Given the description of an element on the screen output the (x, y) to click on. 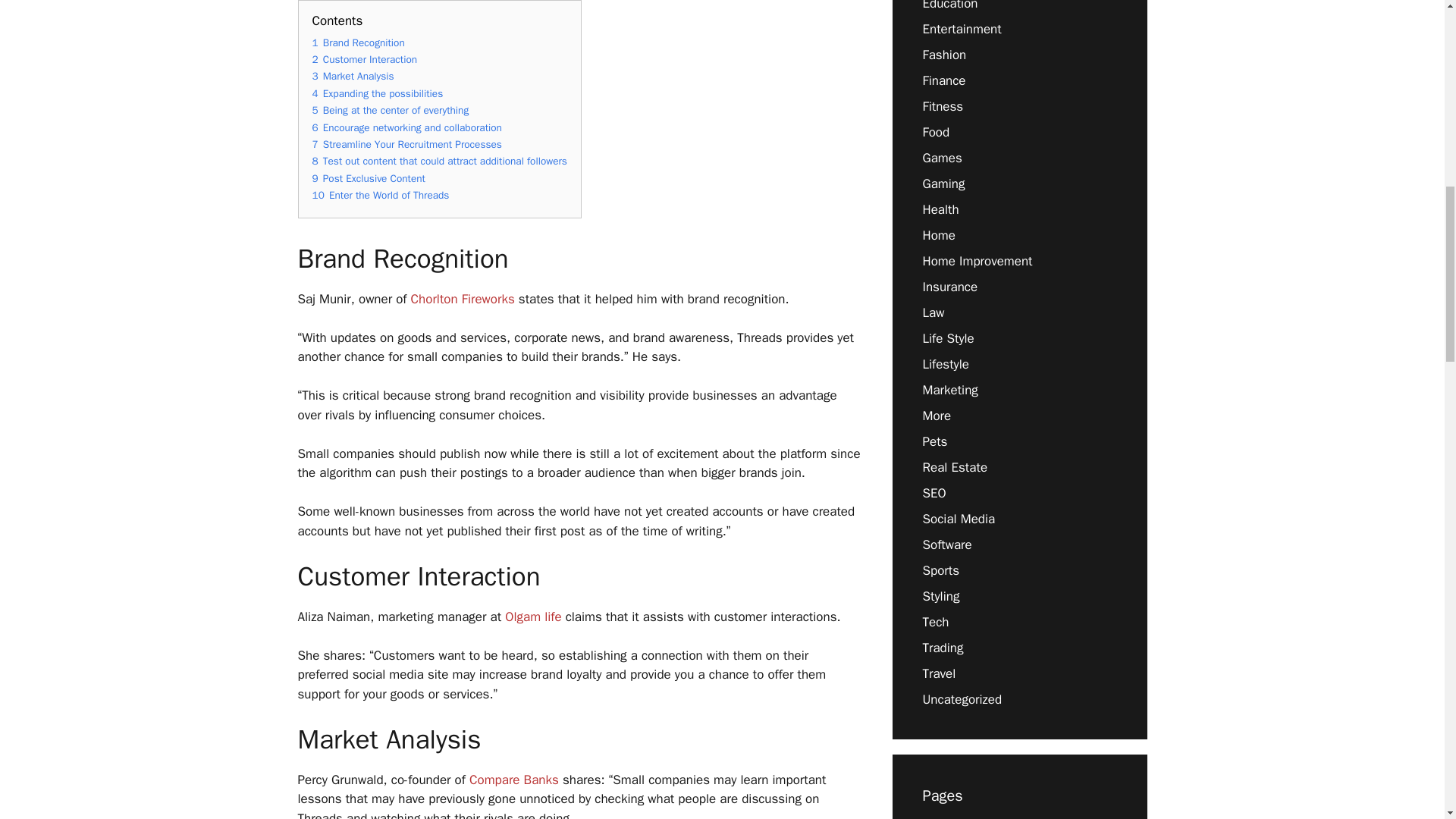
4 Expanding the possibilities (378, 92)
5 Being at the center of everything (390, 110)
Olgam life (532, 616)
9 Post Exclusive Content (369, 178)
8 Test out content that could attract additional followers (440, 160)
7 Streamline Your Recruitment Processes (407, 144)
10 Enter the World of Threads (381, 195)
3 Market Analysis (353, 75)
Compare Banks (513, 779)
2 Customer Interaction (365, 59)
Chorlton Fireworks (462, 299)
6 Encourage networking and collaboration (407, 127)
1 Brand Recognition (358, 42)
